Given the description of an element on the screen output the (x, y) to click on. 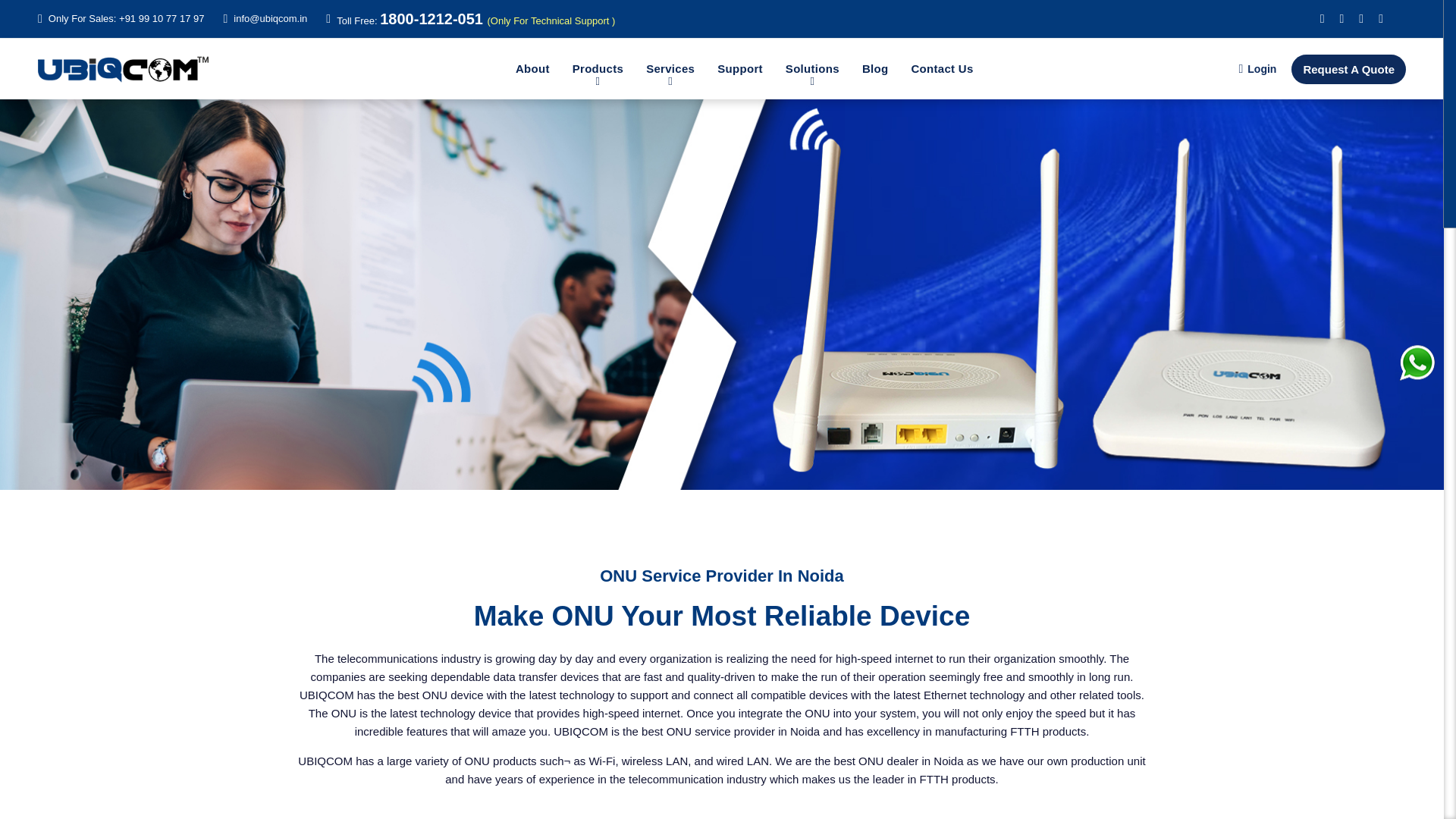
Contact Us (941, 68)
Login (1257, 68)
Request A Quote (1348, 69)
